Given the description of an element on the screen output the (x, y) to click on. 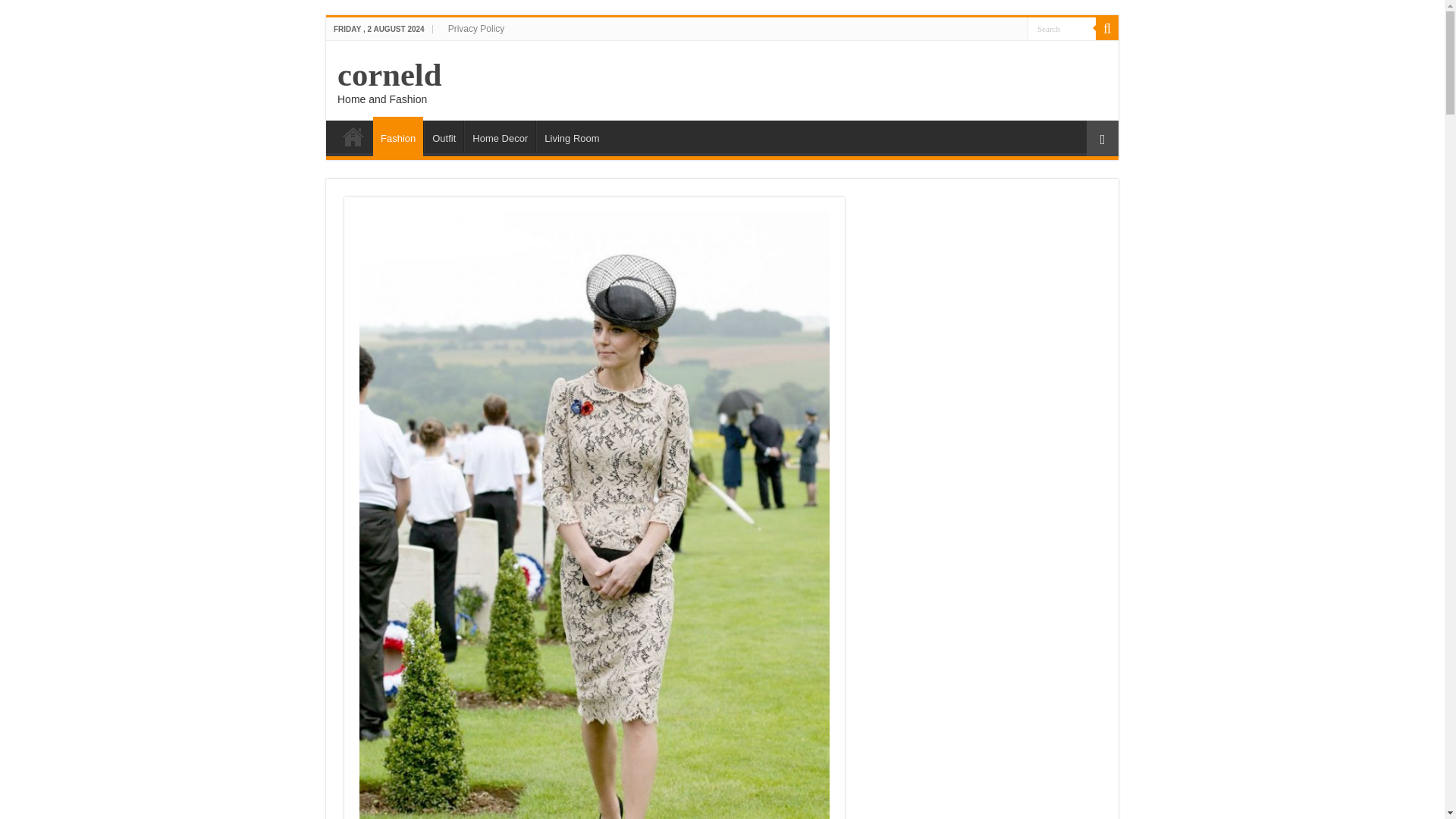
Search (1061, 28)
Search (1061, 28)
Home (352, 136)
Home Decor (499, 136)
Fashion (397, 136)
Search (1107, 28)
Privacy Policy (476, 28)
Search (1061, 28)
corneld (389, 74)
Outfit (443, 136)
Living Room (571, 136)
